Given the description of an element on the screen output the (x, y) to click on. 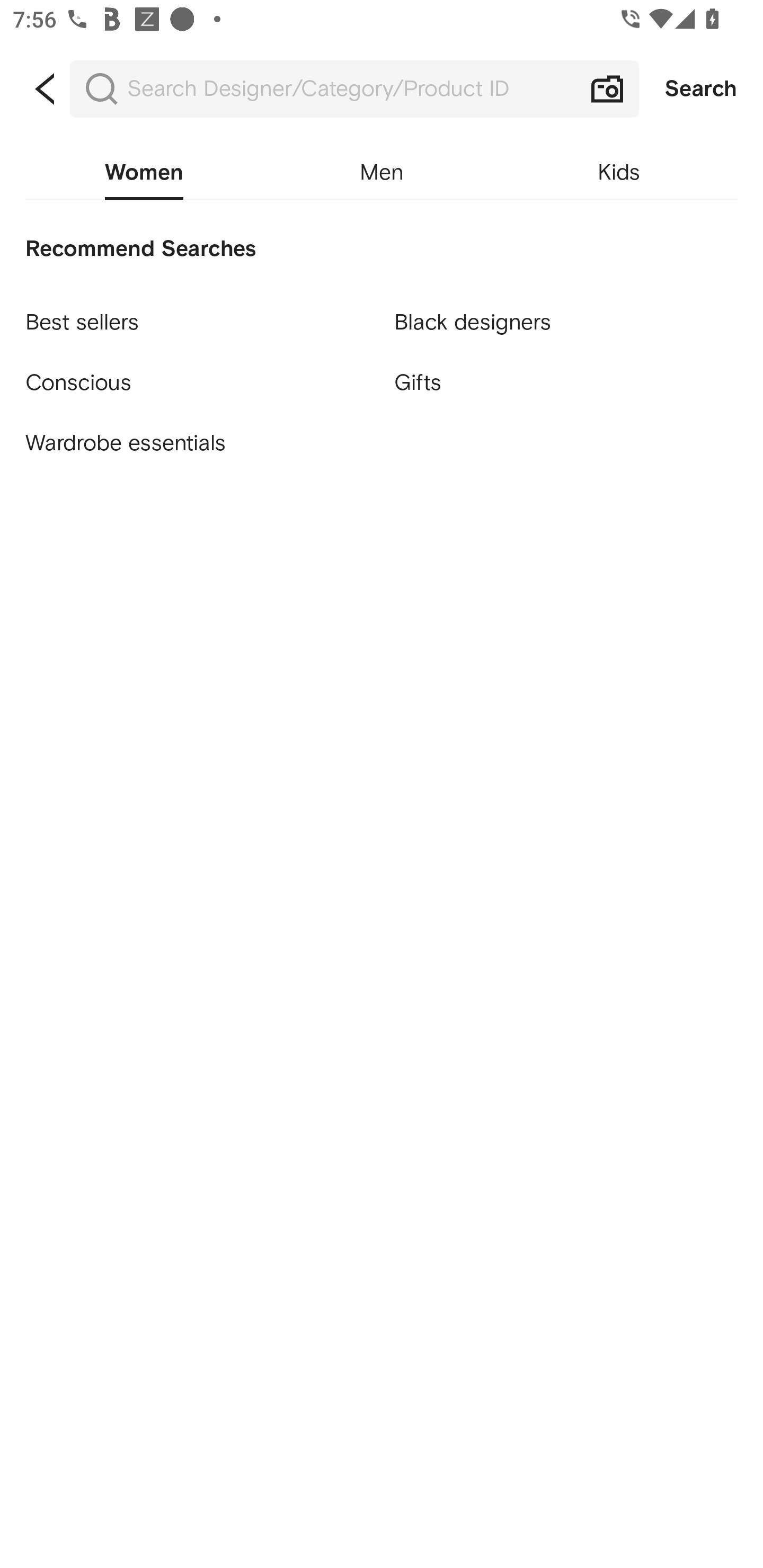
Search (701, 89)
Men (381, 172)
Kids (618, 172)
Best sellers (196, 313)
Black designers (565, 313)
Conscious (196, 374)
Gifts (565, 382)
Wardrobe essentials (196, 442)
